Given the description of an element on the screen output the (x, y) to click on. 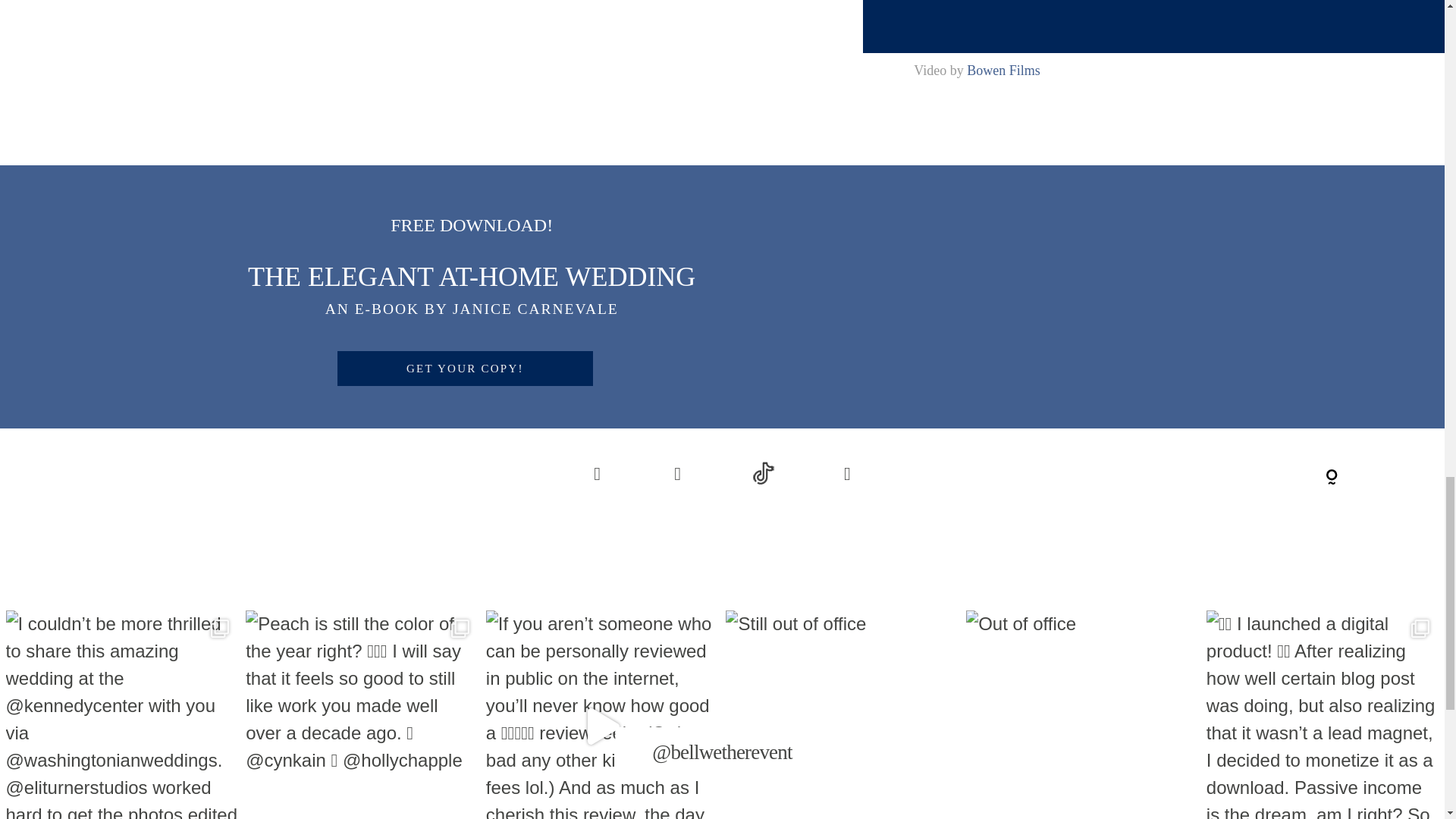
Sorry, your browser does not support inline SVG. (1331, 477)
Sorry, your browser does not support inline SVG. (1135, 474)
Bowen Films (1003, 70)
GET YOUR COPY! (465, 368)
